Given the description of an element on the screen output the (x, y) to click on. 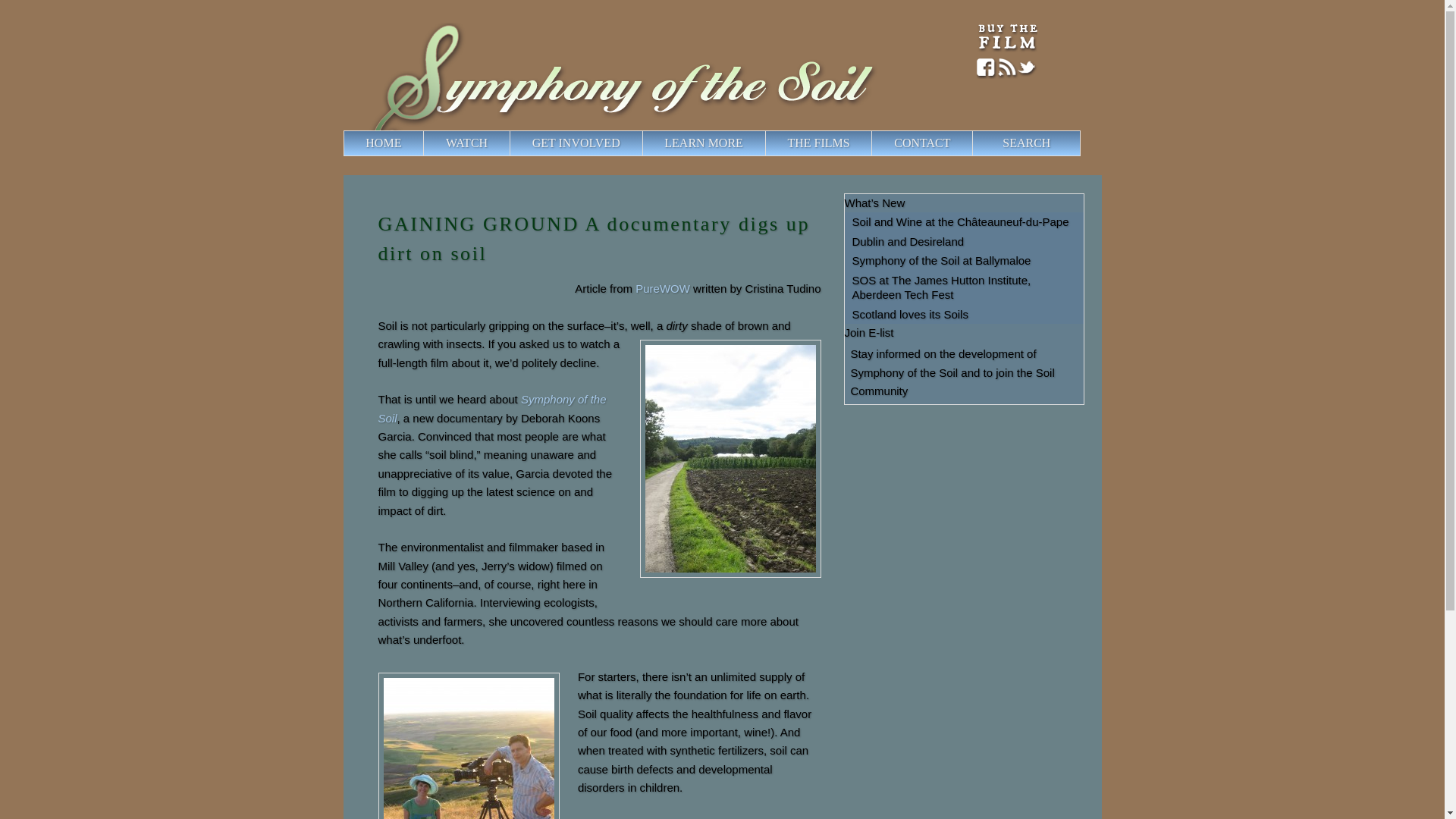
WATCH (466, 143)
Skip to secondary content (428, 141)
CONTACT (922, 143)
Skip to primary content (420, 141)
Skip to primary content (420, 141)
HOME (383, 143)
Skip to secondary content (428, 141)
THE FILMS (818, 143)
GET INVOLVED (576, 143)
LEARN MORE (704, 143)
